Given the description of an element on the screen output the (x, y) to click on. 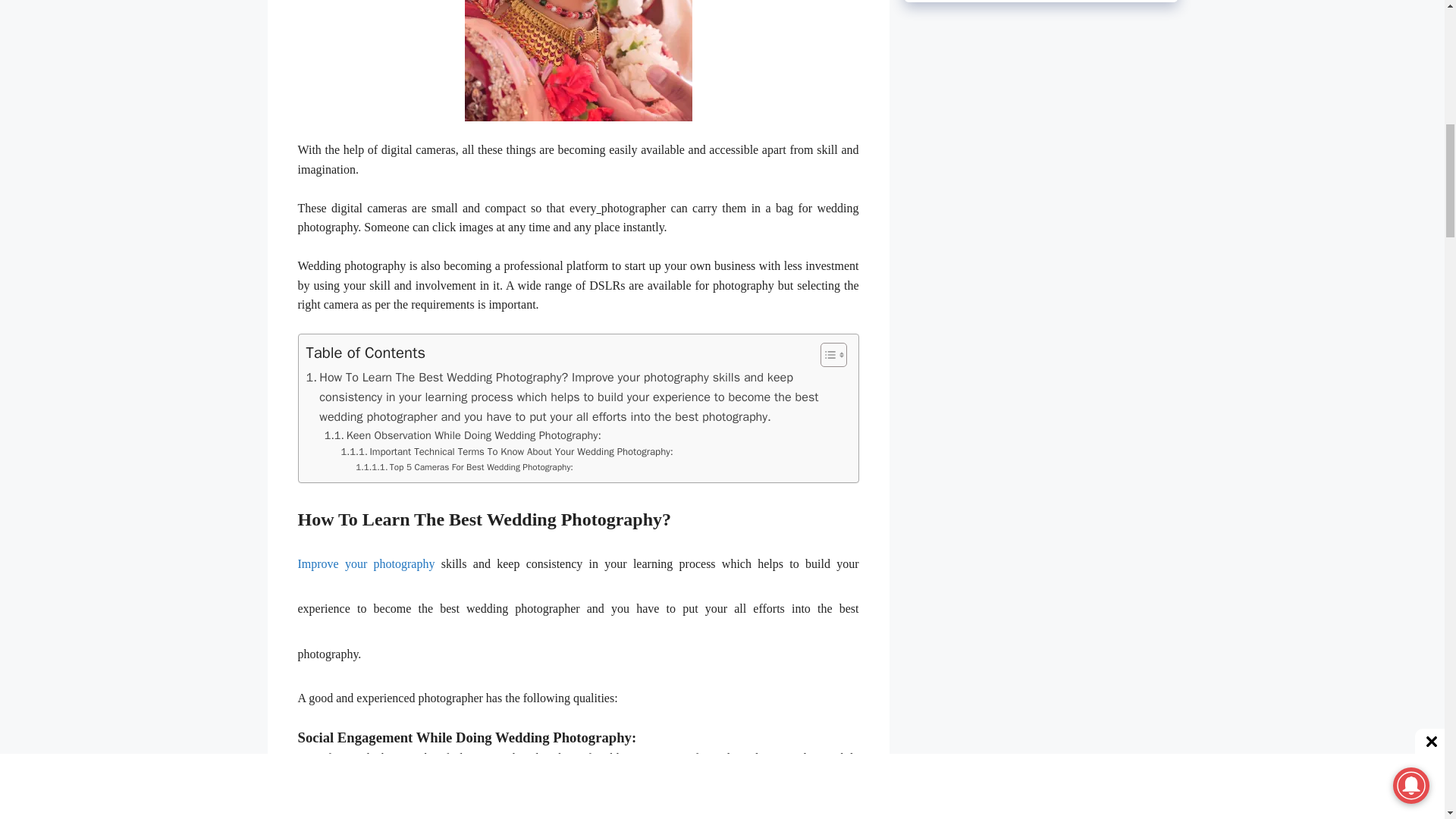
Top 5 Cameras For Best Wedding Photography: (464, 467)
Keen Observation While Doing Wedding Photography: (462, 435)
Top 5 Cameras For Best Wedding Photography: (464, 467)
Improve your photography (369, 563)
Keen Observation While Doing Wedding Photography: (462, 435)
